Given the description of an element on the screen output the (x, y) to click on. 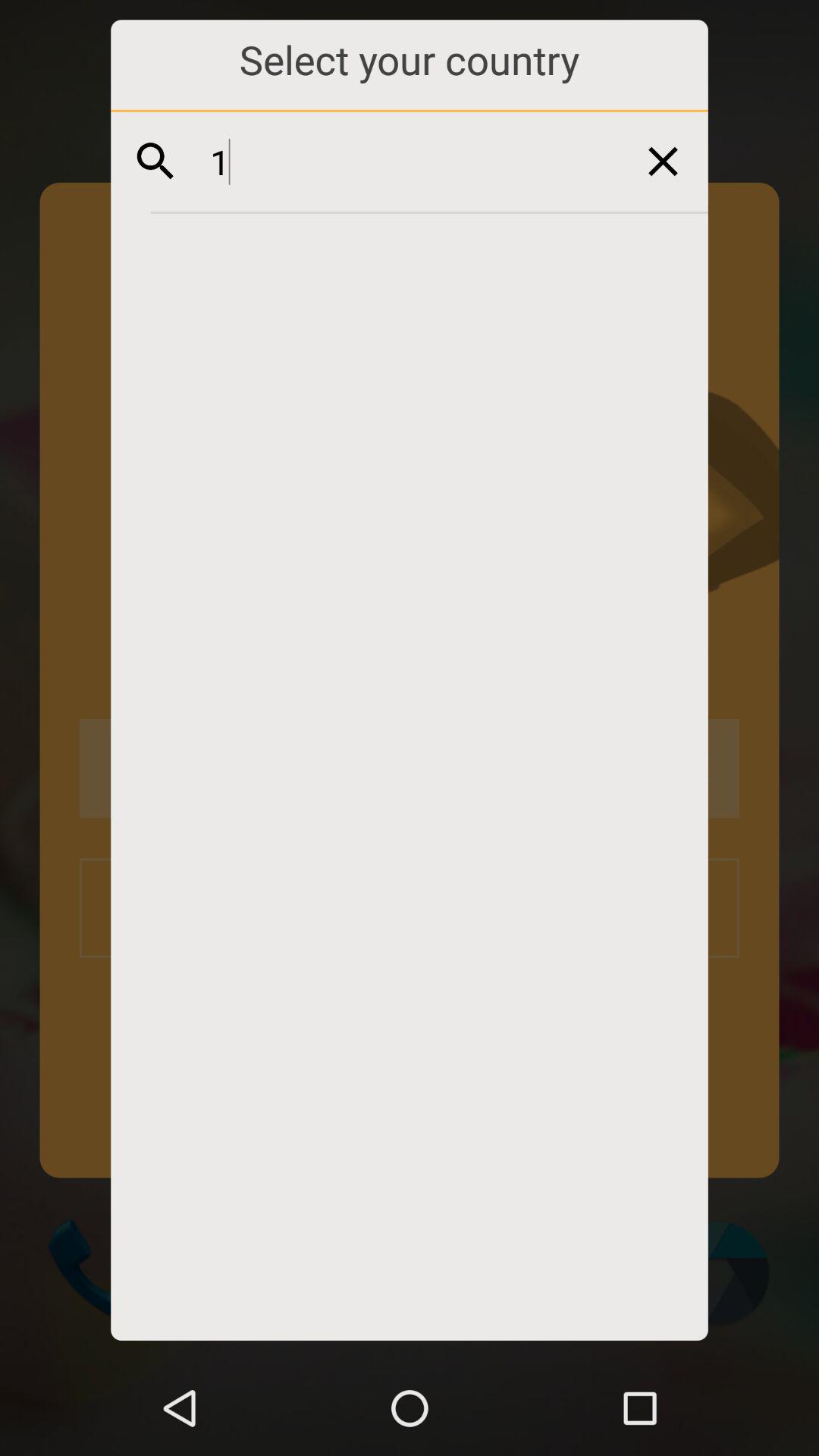
exit this page (663, 161)
